Given the description of an element on the screen output the (x, y) to click on. 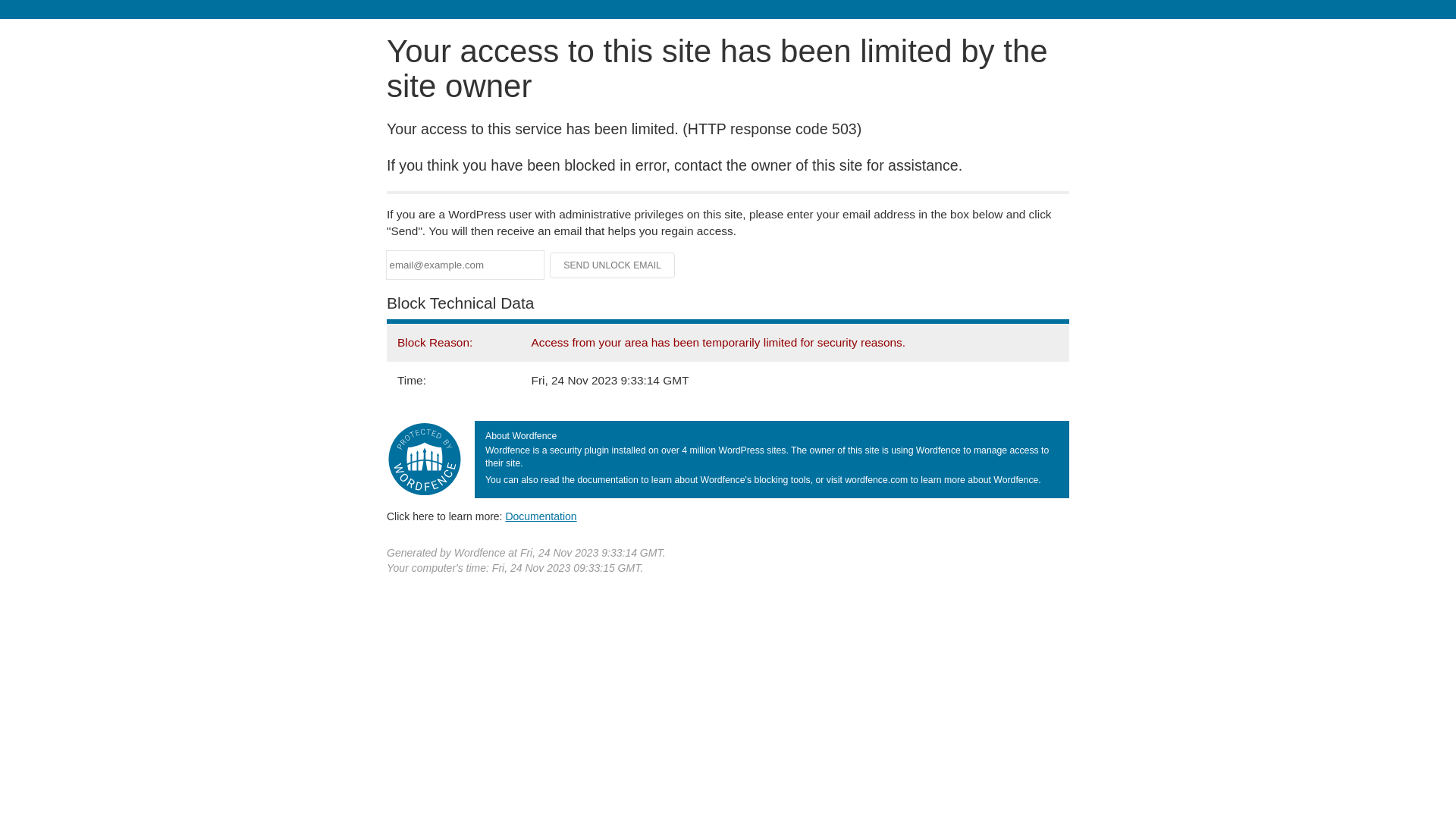
Documentation Element type: text (540, 516)
Send Unlock Email Element type: text (612, 265)
